Given the description of an element on the screen output the (x, y) to click on. 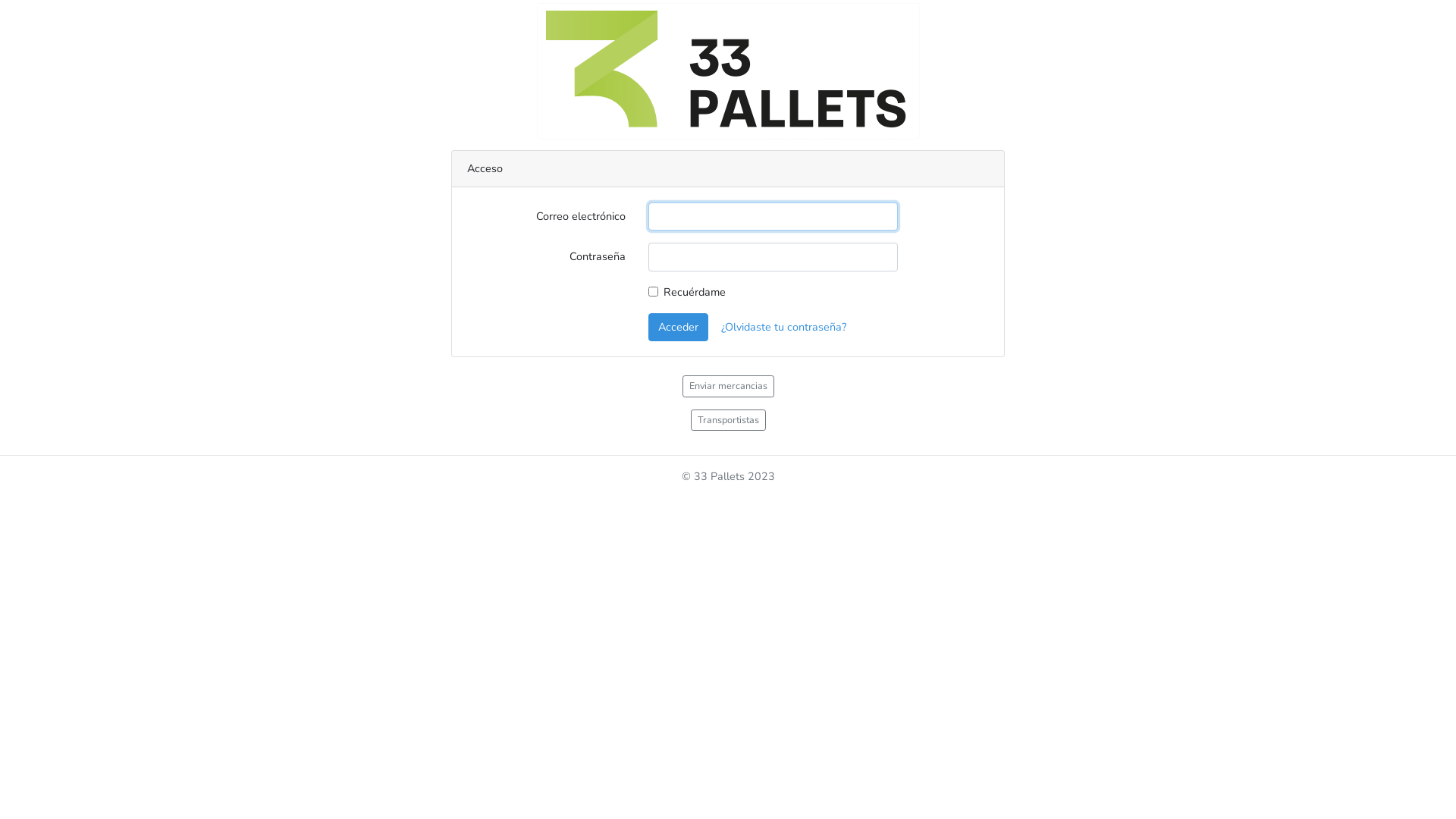
Enviar mercancias Element type: text (728, 386)
Acceder Element type: text (678, 327)
Transportistas Element type: text (727, 420)
